Given the description of an element on the screen output the (x, y) to click on. 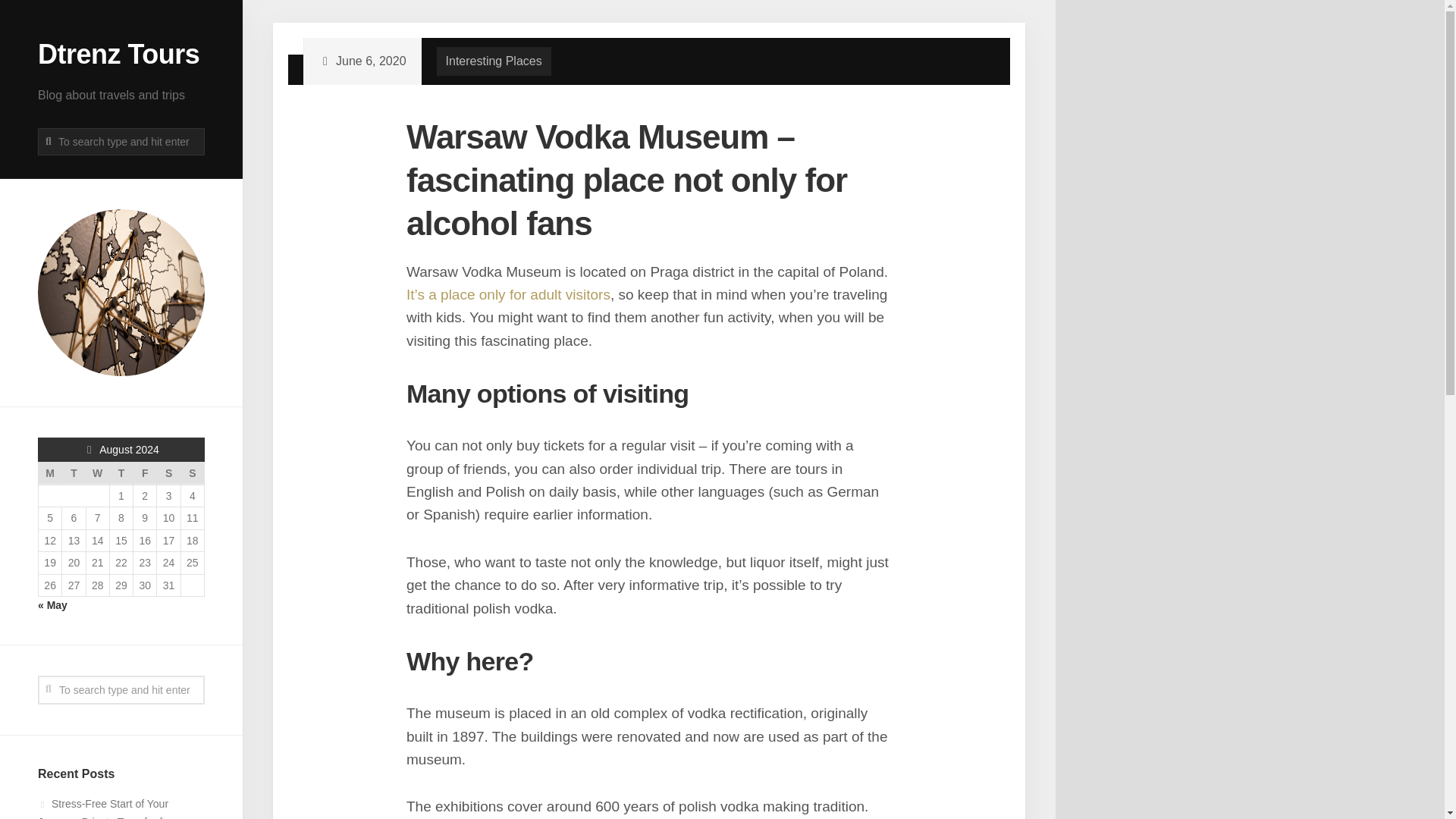
Dtrenz Tours (121, 53)
Friday (145, 473)
Saturday (168, 473)
To search type and hit enter (121, 689)
To search type and hit enter (121, 141)
To search type and hit enter (121, 689)
Wednesday (97, 473)
To search type and hit enter (121, 141)
Monday (49, 473)
